Given the description of an element on the screen output the (x, y) to click on. 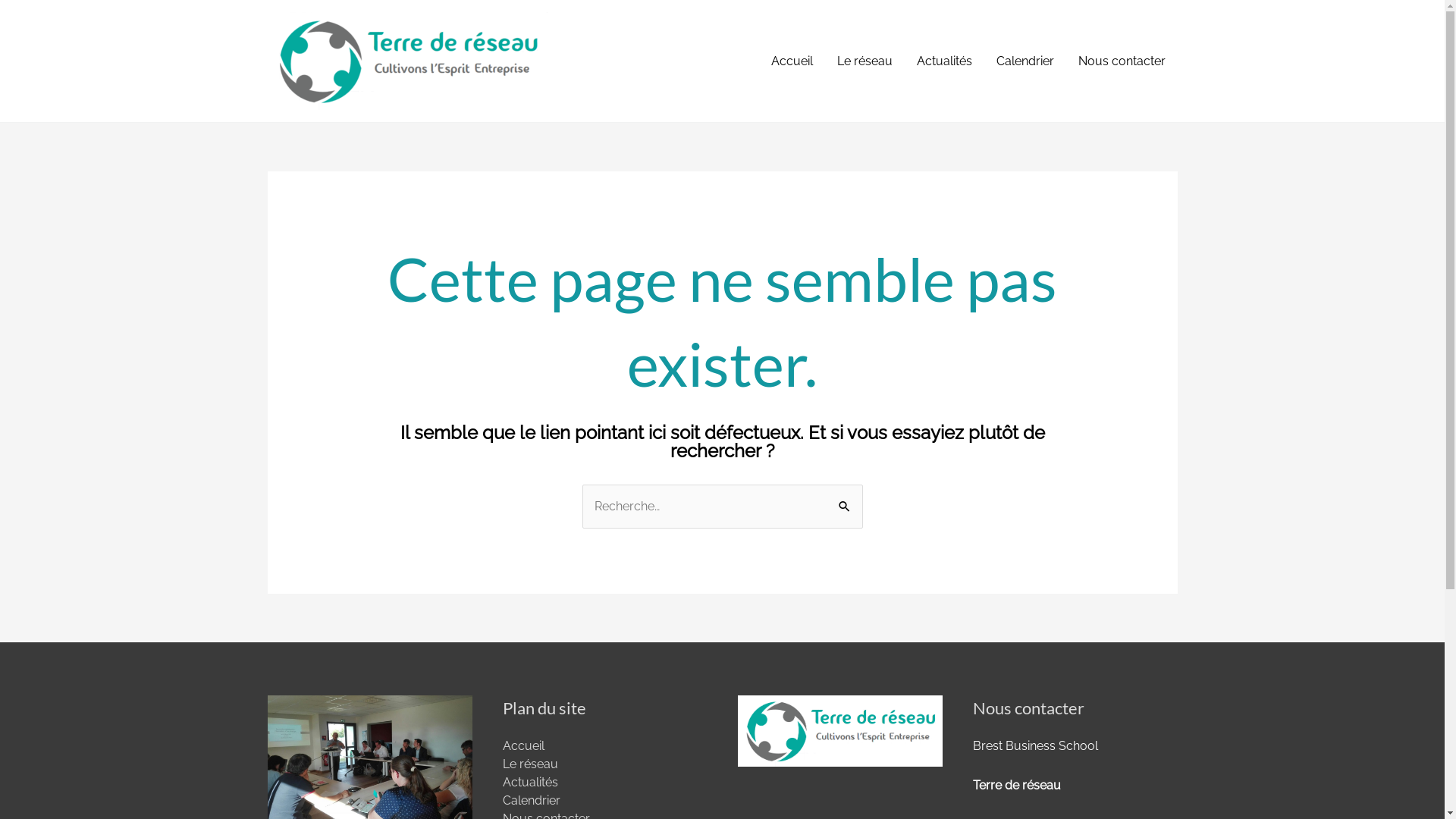
Accueil Element type: text (791, 60)
Accueil Element type: text (522, 745)
Calendrier Element type: text (530, 800)
Calendrier Element type: text (1025, 60)
Rechercher Element type: text (845, 505)
Nous contacter Element type: text (1121, 60)
